Given the description of an element on the screen output the (x, y) to click on. 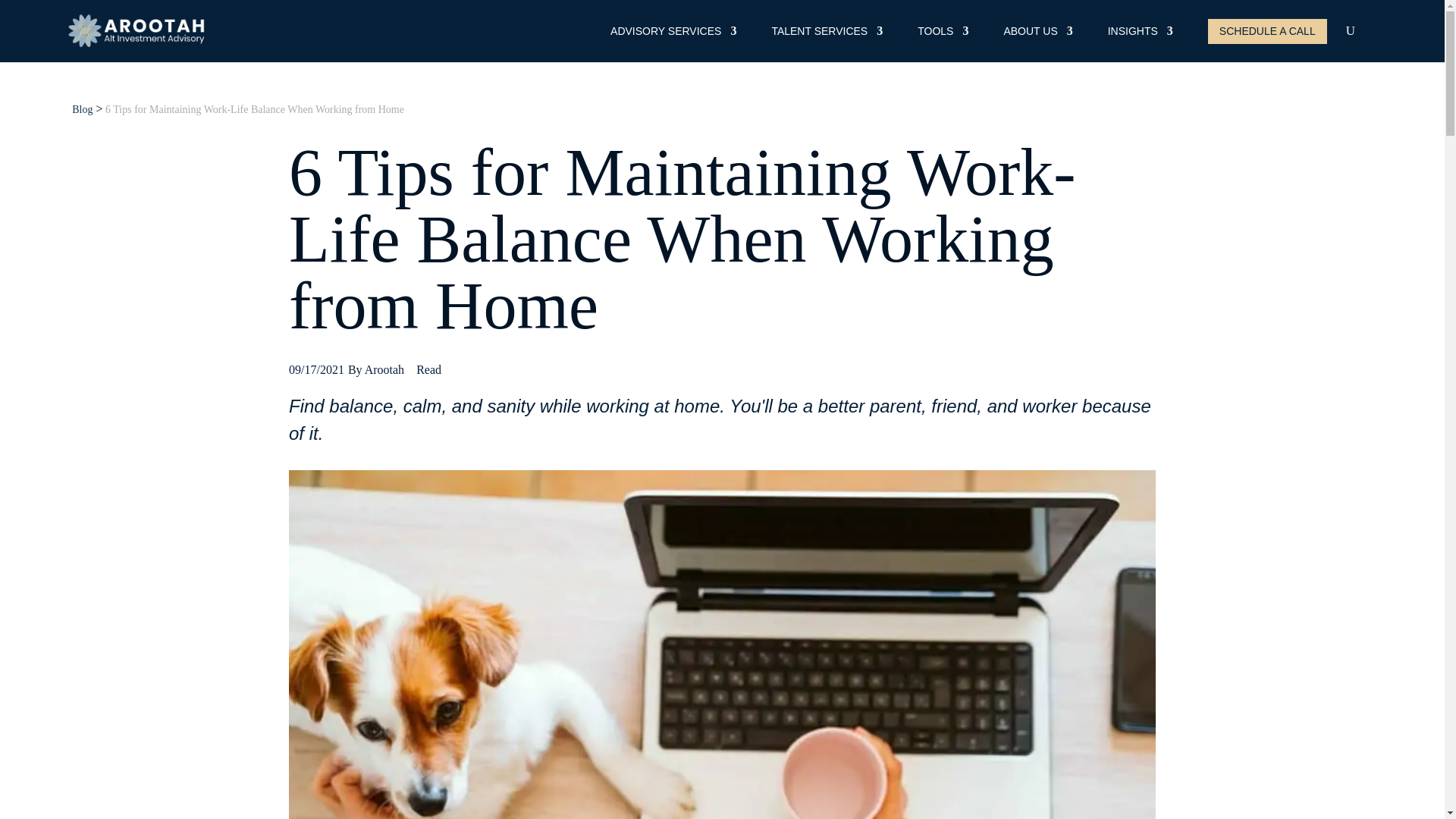
ABOUT US (1037, 34)
TOOLS (942, 34)
ADVISORY SERVICES (673, 34)
INSIGHTS (1140, 34)
TALENT SERVICES (826, 34)
SCHEDULE A CALL (1267, 31)
